Given the description of an element on the screen output the (x, y) to click on. 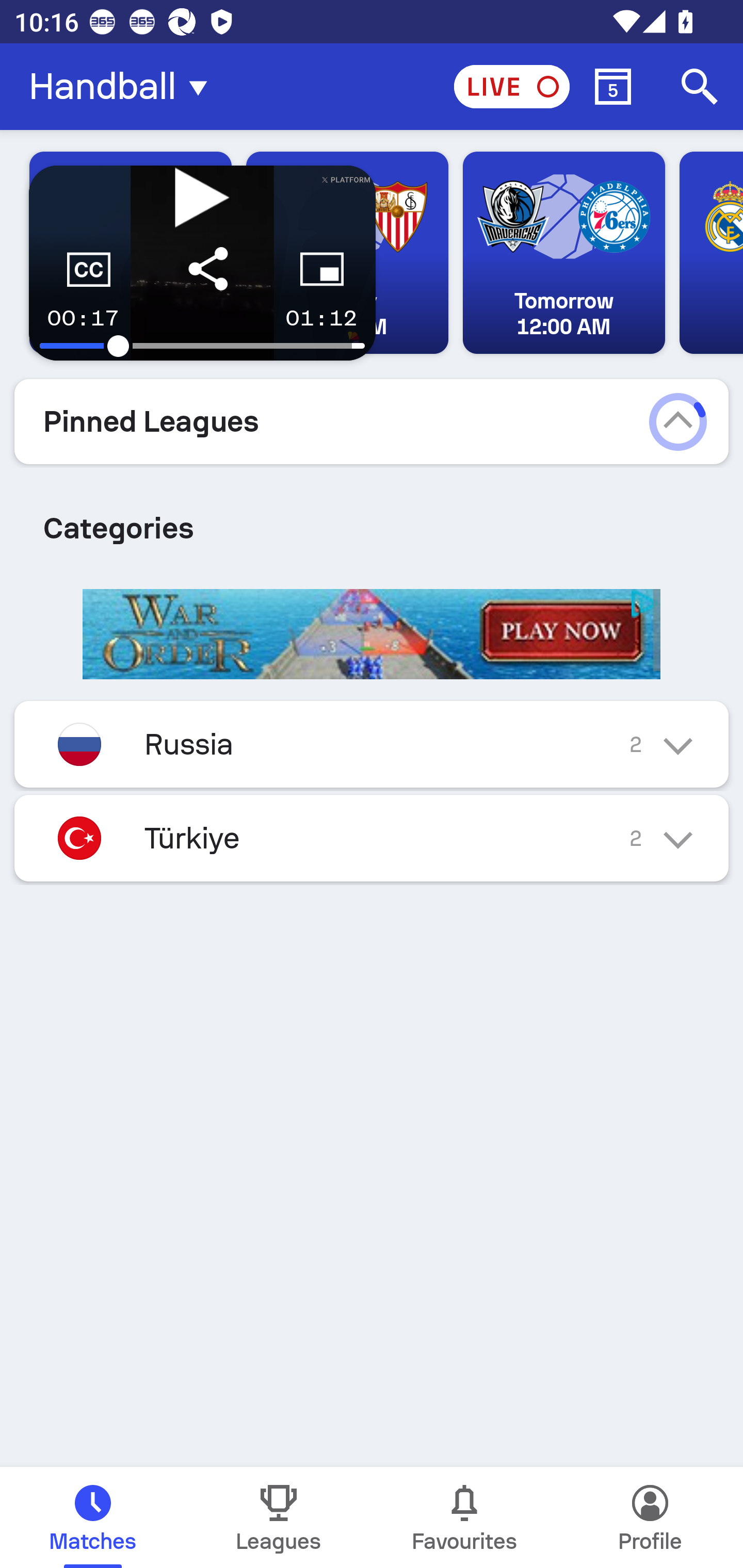
Handball (124, 86)
Calendar (612, 86)
Search (699, 86)
Tomorrow
12:00 AM (563, 253)
Pinned Leagues (371, 421)
Categories (371, 520)
ls01npbc_c00kycu_uhyixfp8gumcshzf (371, 634)
privacy (645, 603)
Russia 2 (371, 743)
Türkiye 2 (371, 837)
Leagues (278, 1517)
Favourites (464, 1517)
Profile (650, 1517)
